Given the description of an element on the screen output the (x, y) to click on. 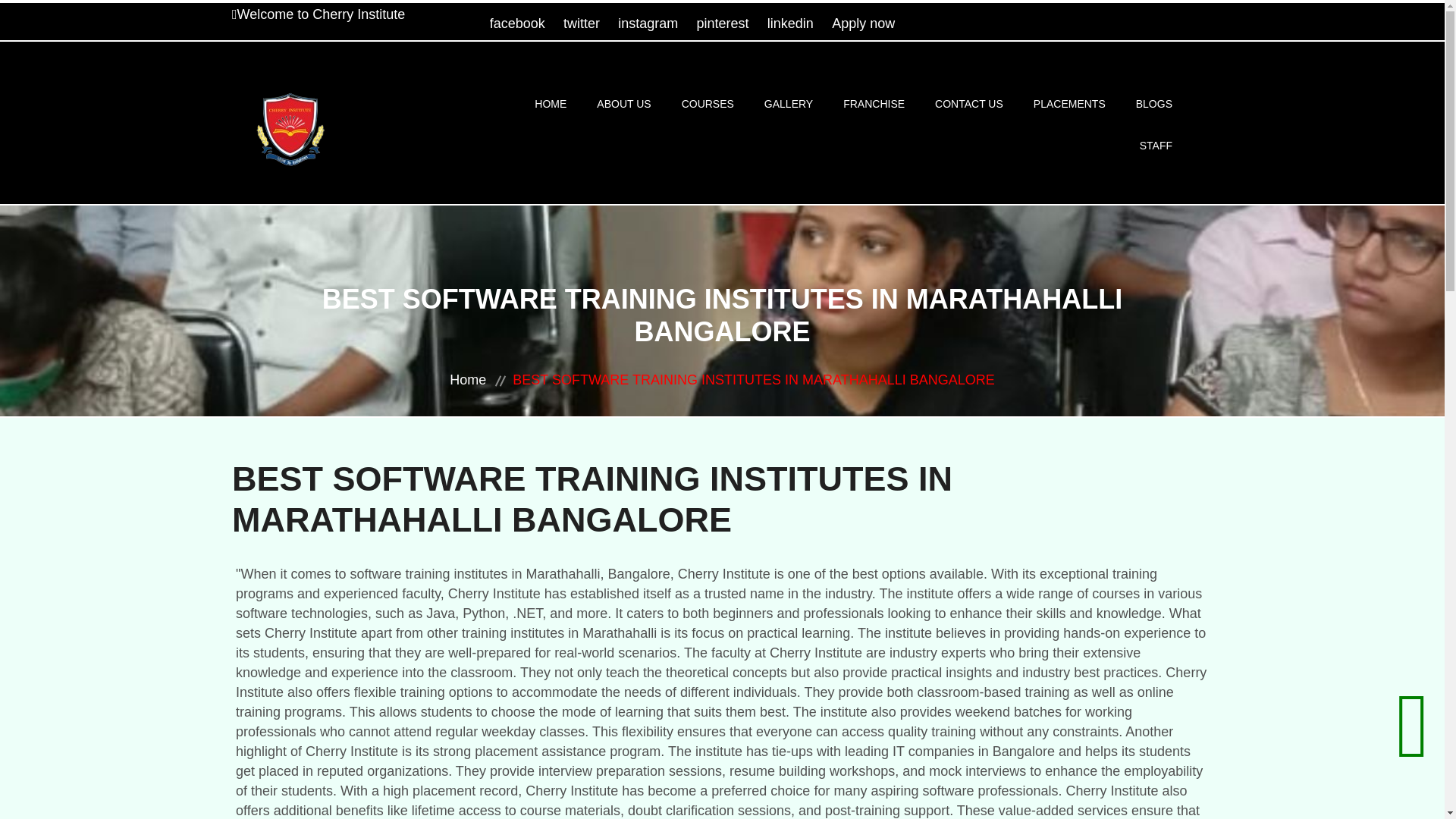
twitter (581, 23)
pinterest (723, 23)
facebook (516, 23)
twitter (581, 23)
linkedin (790, 23)
ABOUT US (623, 104)
instagram (647, 23)
Apply now (863, 23)
linkedin (790, 23)
facebook (516, 23)
